Given the description of an element on the screen output the (x, y) to click on. 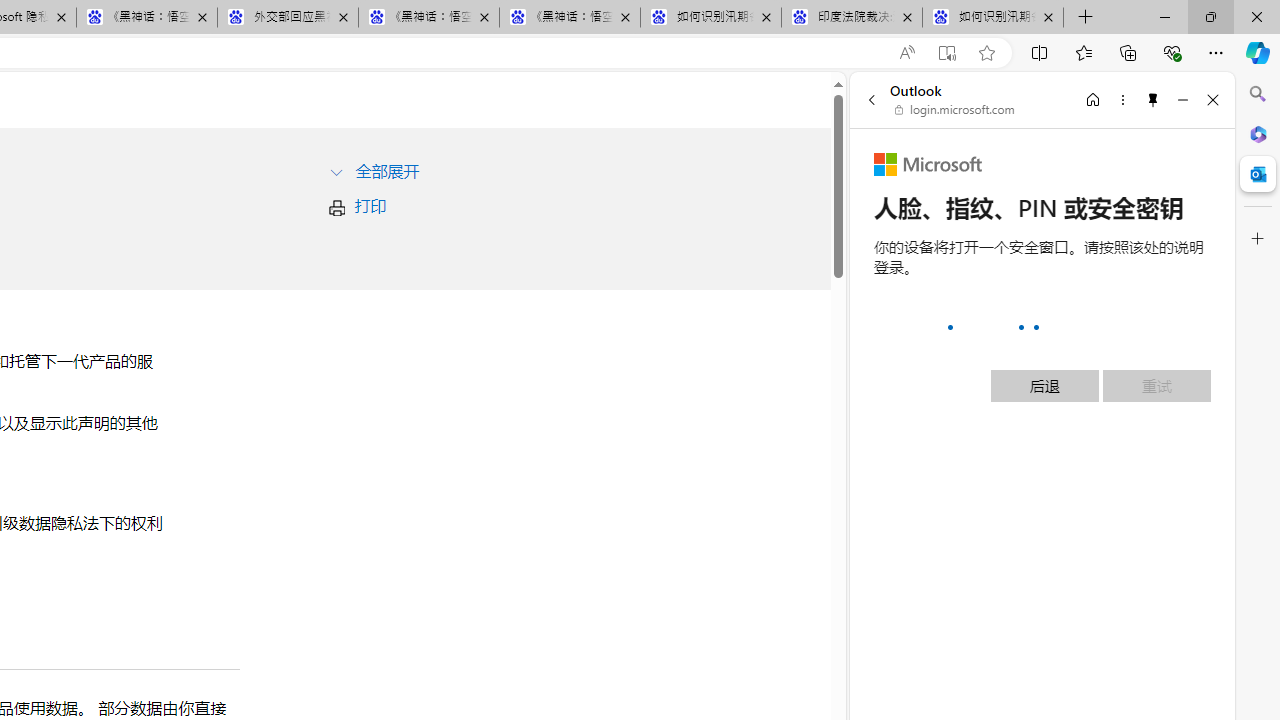
login.microsoft.com (955, 110)
